Given the description of an element on the screen output the (x, y) to click on. 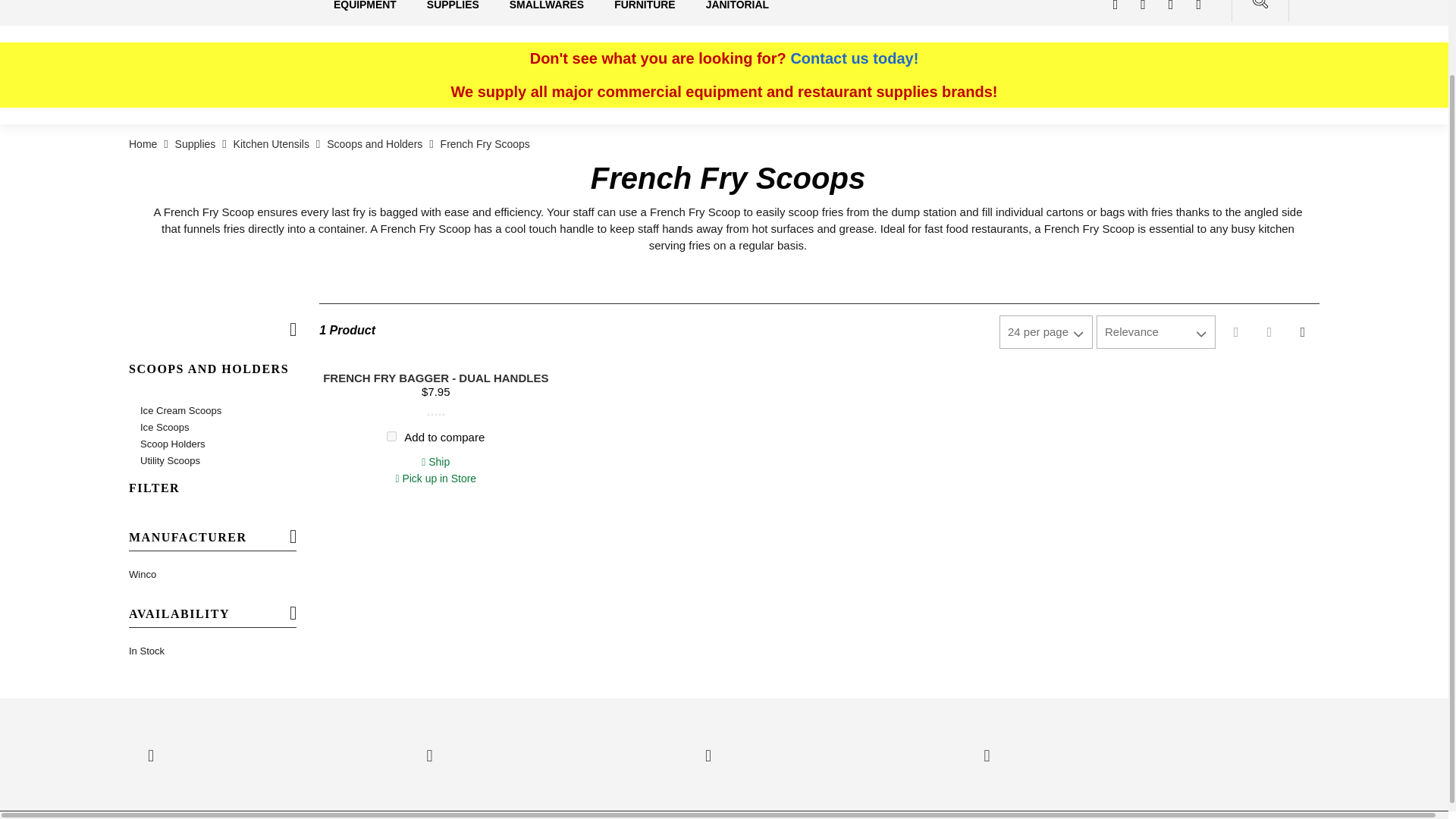
Utility Scoops (223, 460)
Ice Scoops (223, 427)
Manufacturer (213, 543)
Table (1268, 331)
In Stock (213, 651)
on (391, 436)
Grid (1302, 331)
Category (218, 352)
List (1236, 331)
EQUIPMENT (364, 12)
